Given the description of an element on the screen output the (x, y) to click on. 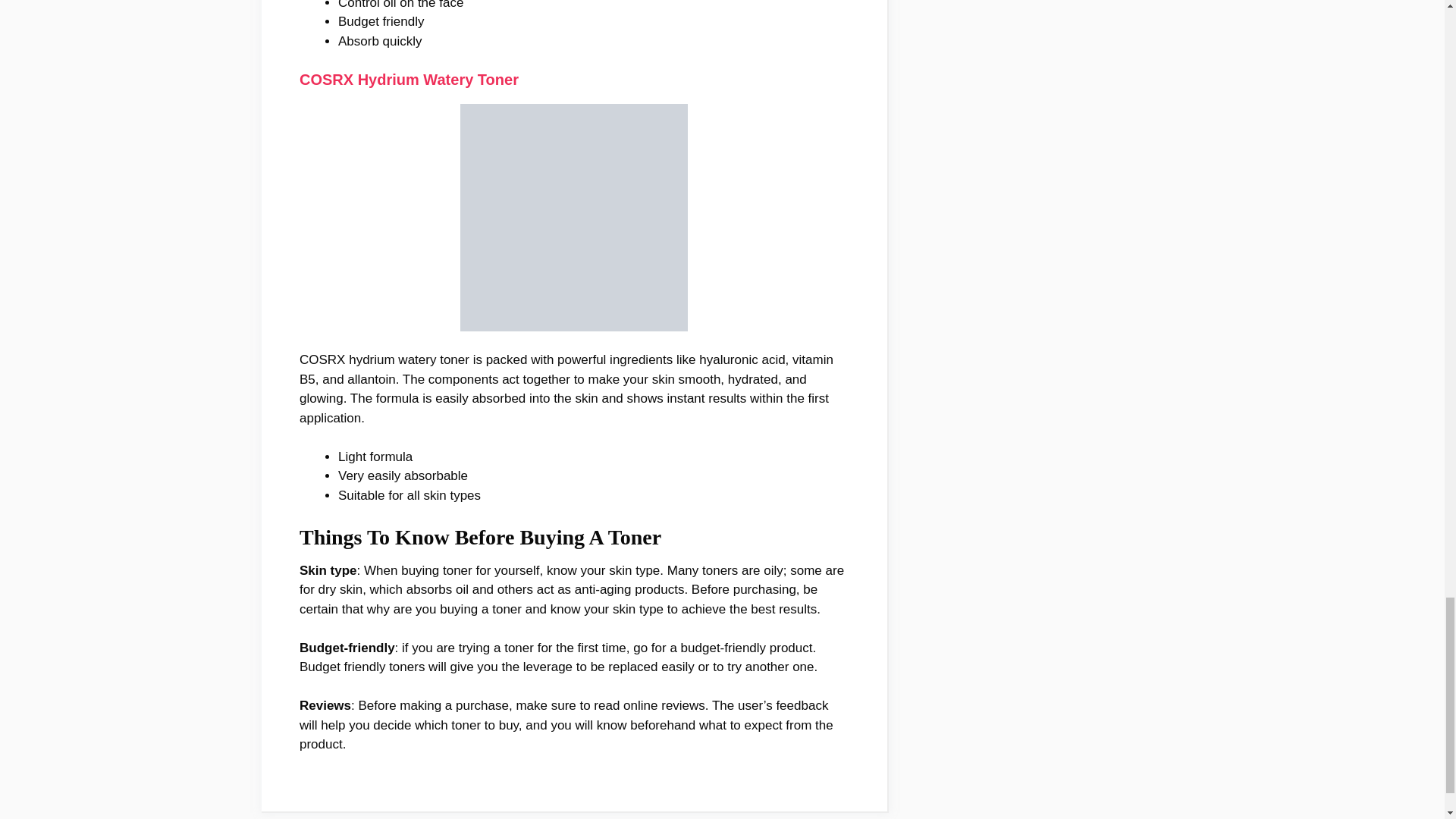
COSRX Hydrium Watery Toner (408, 79)
